Given the description of an element on the screen output the (x, y) to click on. 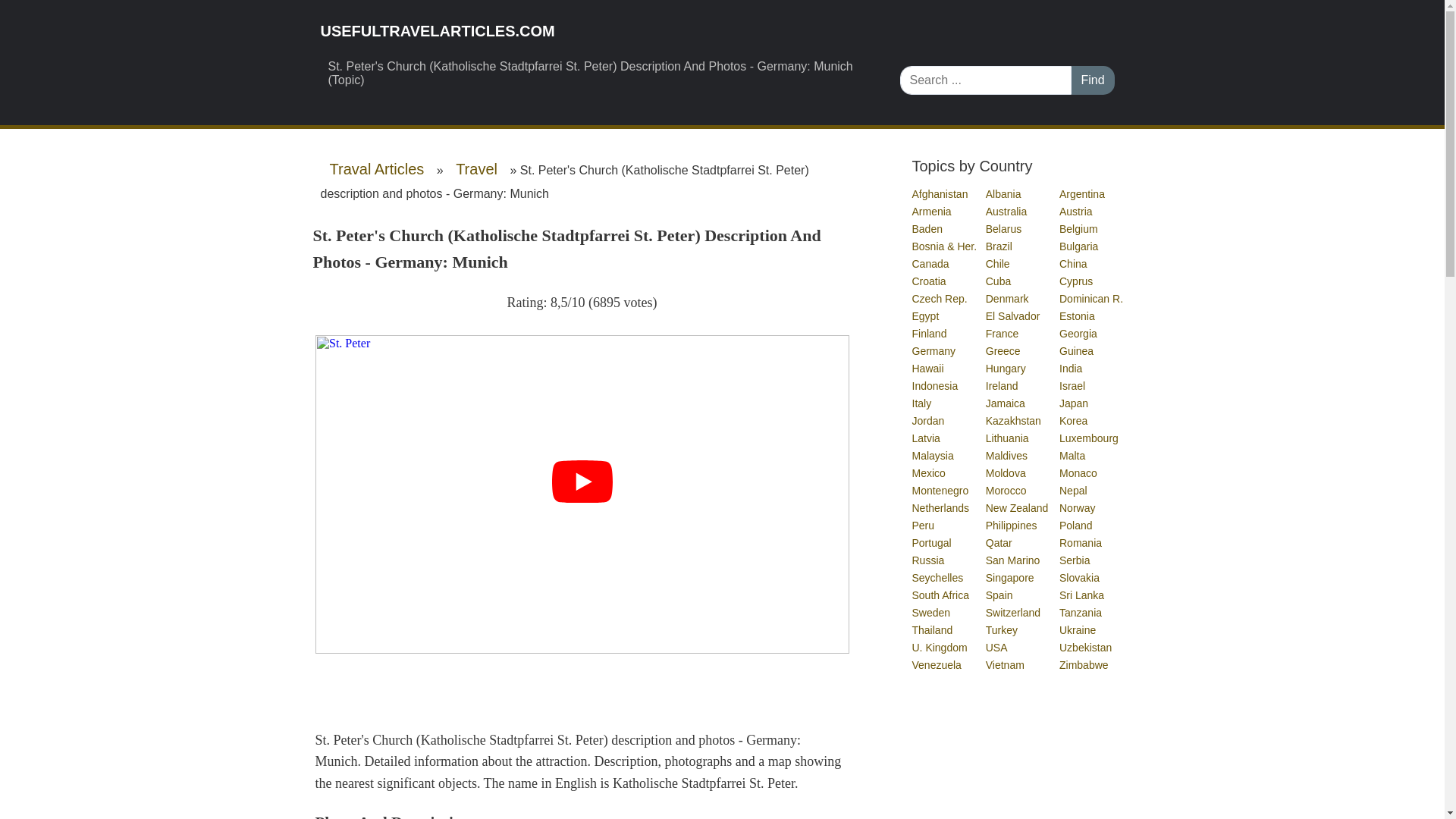
Denmark (1007, 298)
Australia (1006, 211)
Germany (933, 350)
USEFULTRAVELARTICLES.COM (598, 31)
Find (1091, 80)
Belarus (1004, 228)
Bulgaria (1079, 246)
Argentina (1082, 193)
Travel (476, 169)
Afghanistan (940, 193)
Egypt (925, 316)
Greece (1003, 350)
France (1002, 333)
Croatia (929, 281)
El Salvador (1013, 316)
